Given the description of an element on the screen output the (x, y) to click on. 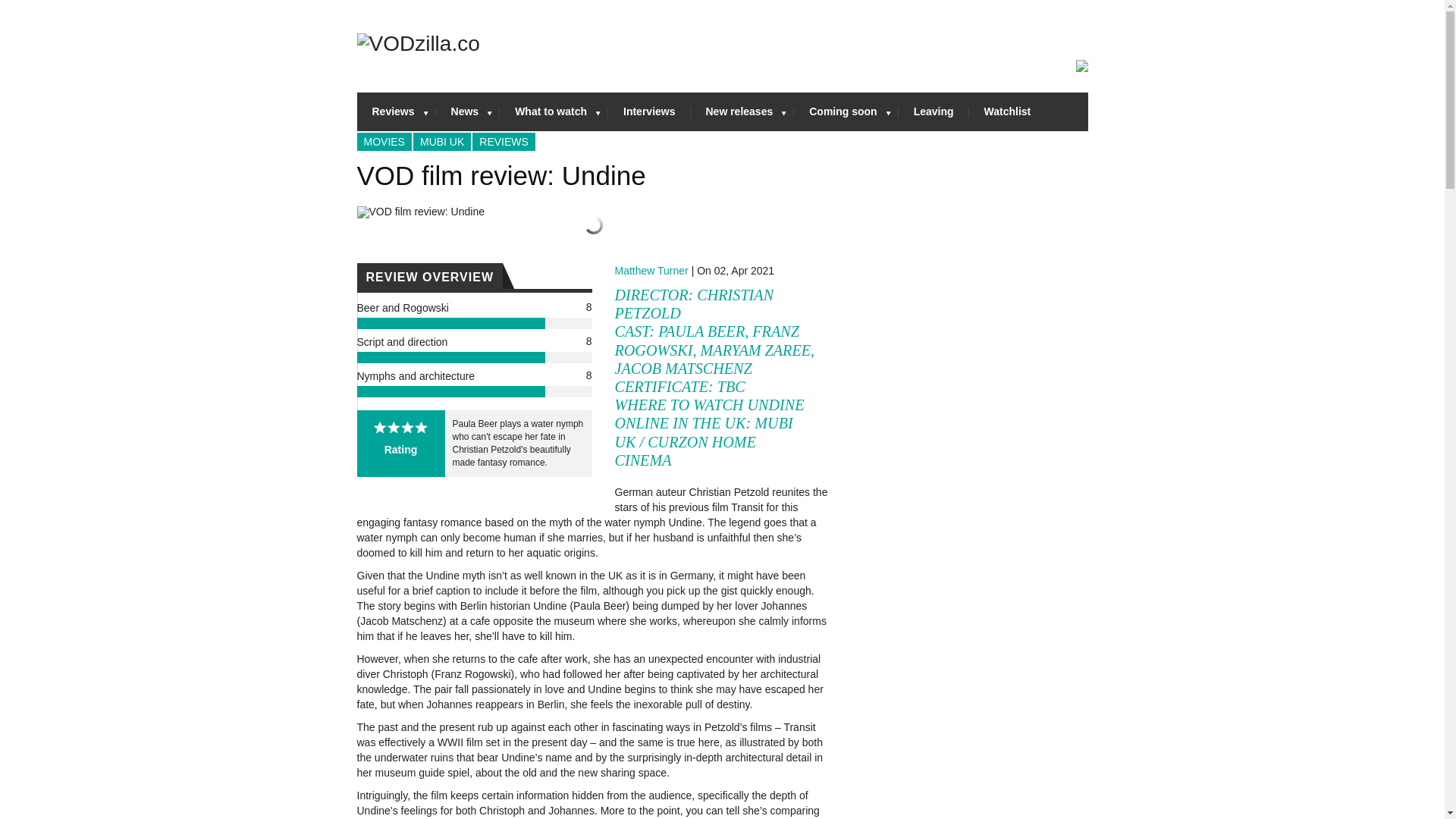
Interviews (649, 111)
Coming soon (845, 111)
New releases (741, 111)
